Given the description of an element on the screen output the (x, y) to click on. 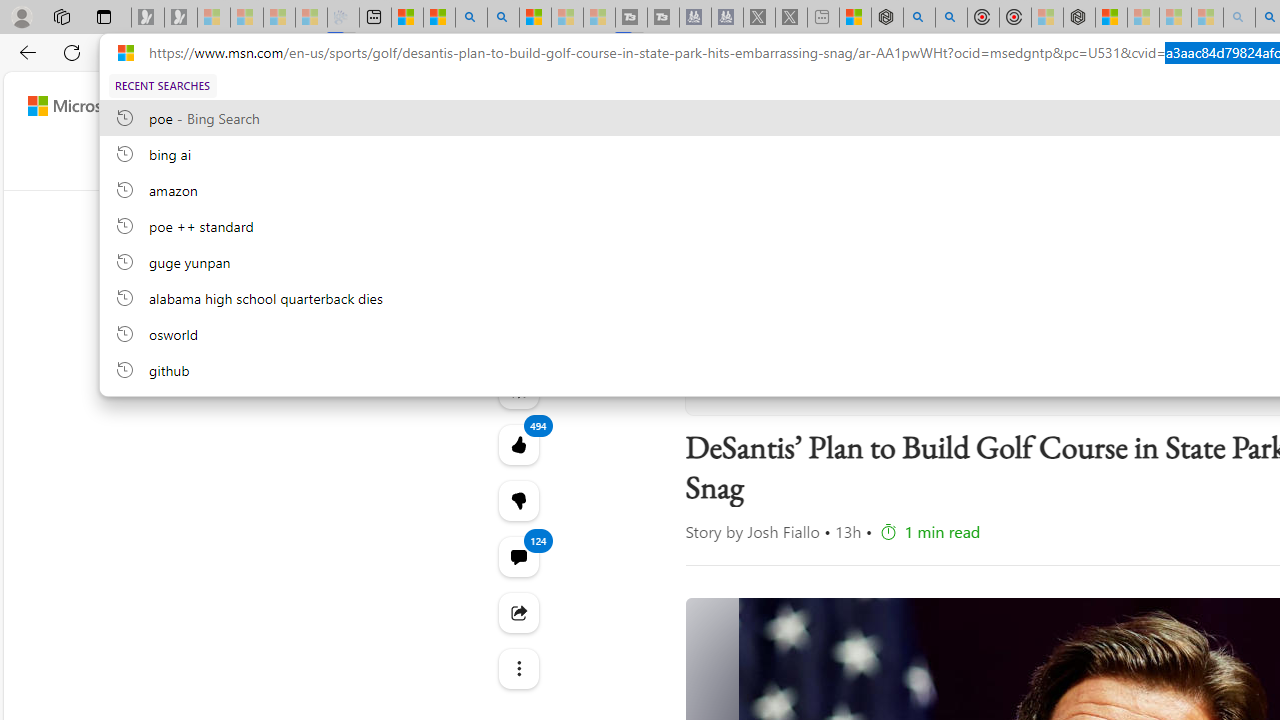
Tennis (1171, 162)
poe - Search (919, 17)
